Given the description of an element on the screen output the (x, y) to click on. 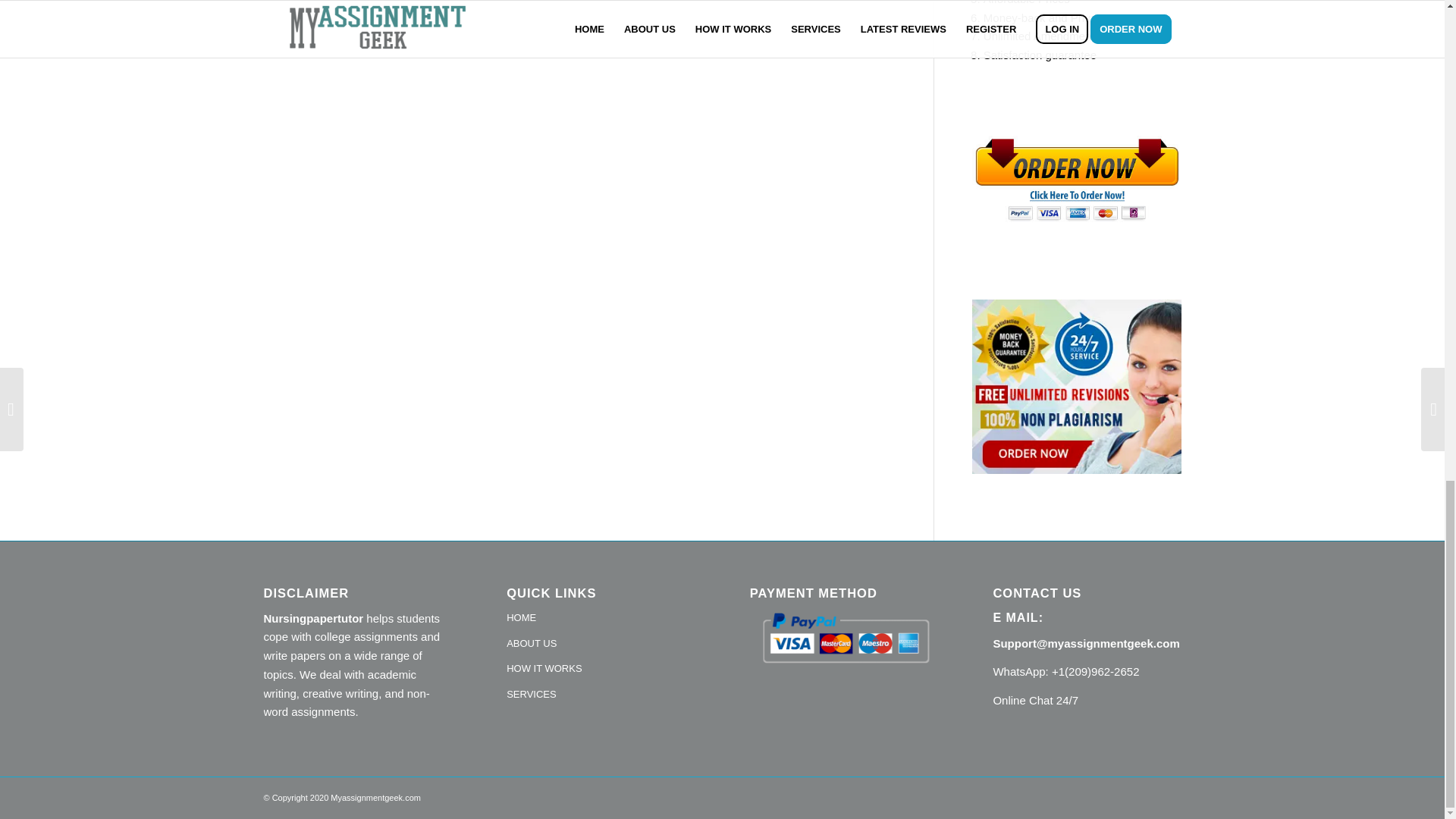
HOW IT WORKS (600, 669)
SERVICES (600, 695)
HOME (600, 618)
ABOUT US (600, 644)
